Given the description of an element on the screen output the (x, y) to click on. 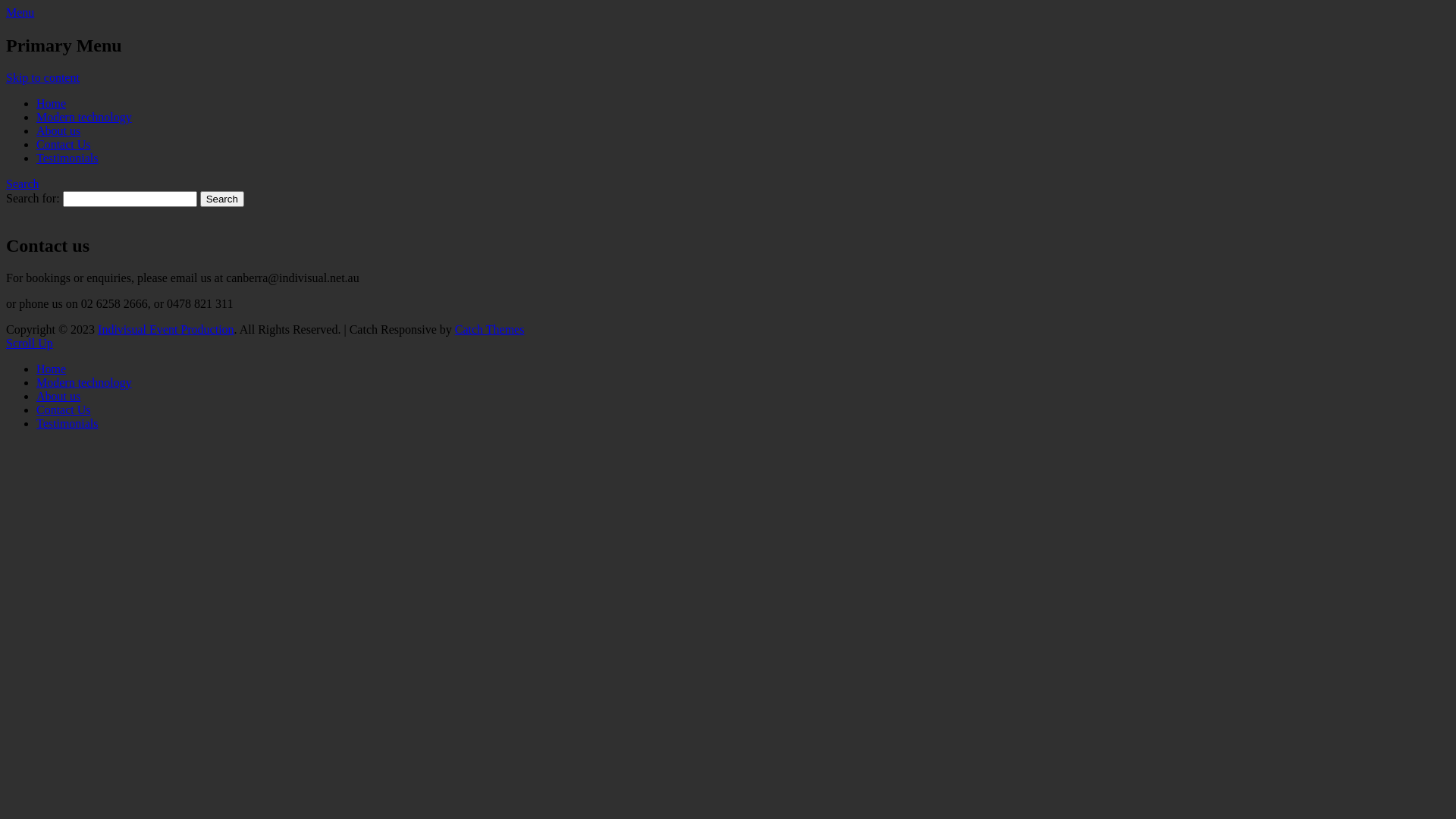
Indivisual Event Production Element type: text (165, 329)
Home Element type: text (50, 368)
Search Element type: text (222, 199)
Modern technology Element type: text (83, 382)
Modern technology Element type: text (83, 116)
Search for: Element type: hover (129, 199)
Search Element type: text (22, 183)
About us Element type: text (58, 130)
Indivisual Event Production Element type: text (152, 49)
Contact Us Element type: text (63, 144)
Skip to content Element type: text (42, 77)
About us Element type: text (58, 395)
Menu Element type: text (20, 12)
Testimonials Element type: text (67, 423)
Testimonials Element type: text (67, 157)
Home Element type: text (50, 103)
Scroll Up Element type: text (29, 342)
Catch Themes Element type: text (489, 329)
Contact Us Element type: text (63, 409)
